Given the description of an element on the screen output the (x, y) to click on. 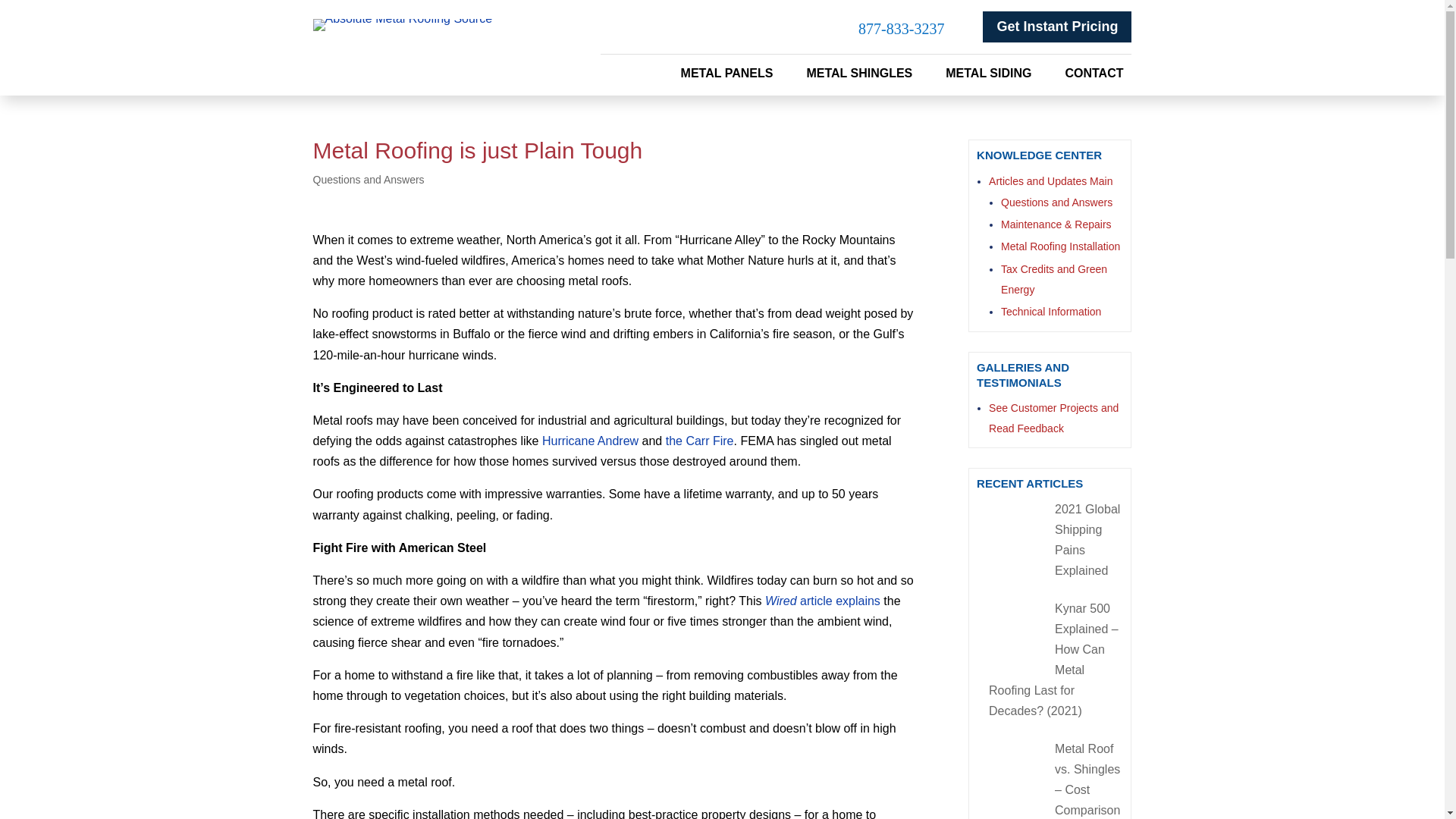
Get Instant Pricing (1056, 26)
Metal Roofing Installation (1060, 246)
METAL SIDING (987, 76)
Articles and Updates Main (1050, 181)
the Carr Fire (699, 440)
Metal Roofing Source Logo (402, 24)
Hurricane Andrew (590, 440)
CONTACT (1093, 76)
METAL SHINGLES (859, 76)
METAL PANELS (727, 76)
Wired article explains (822, 600)
Questions and Answers (368, 179)
Tax Credits and Green Energy (1053, 278)
Questions and Answers (1056, 202)
Technical Information (1050, 311)
